Given the description of an element on the screen output the (x, y) to click on. 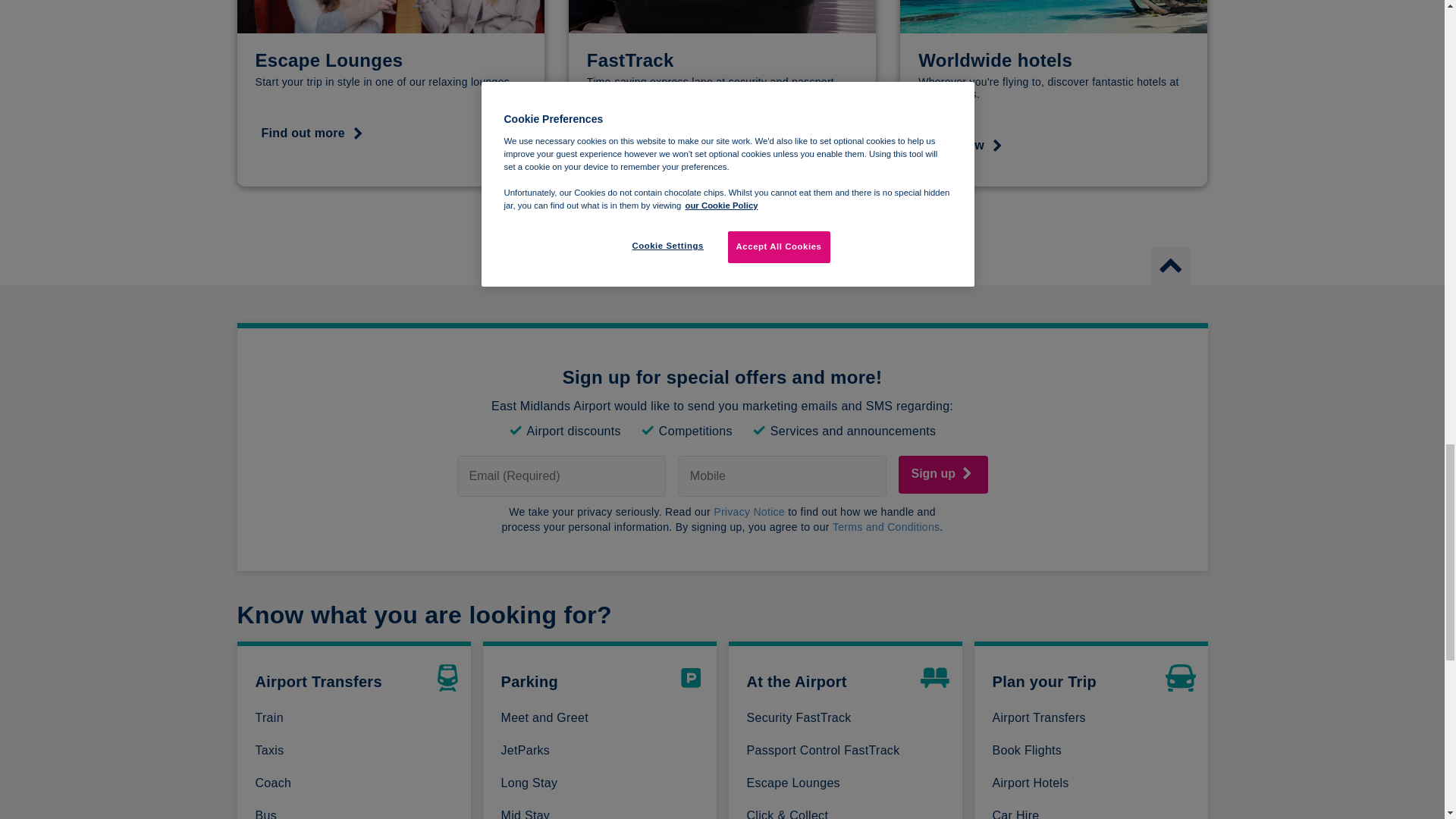
Passport Control FastTrack (847, 750)
Airport Transfers (1093, 717)
Taxis (356, 750)
Mid Stay (601, 811)
Book Flights (1093, 750)
Go to top of page (1169, 259)
Coach (356, 783)
Bus (356, 811)
JetParks (601, 750)
Meet and Greet (601, 717)
Train (356, 717)
Security FastTrack (847, 717)
Airport Hotels (1093, 783)
Escape Lounges (847, 783)
Long Stay (601, 783)
